Given the description of an element on the screen output the (x, y) to click on. 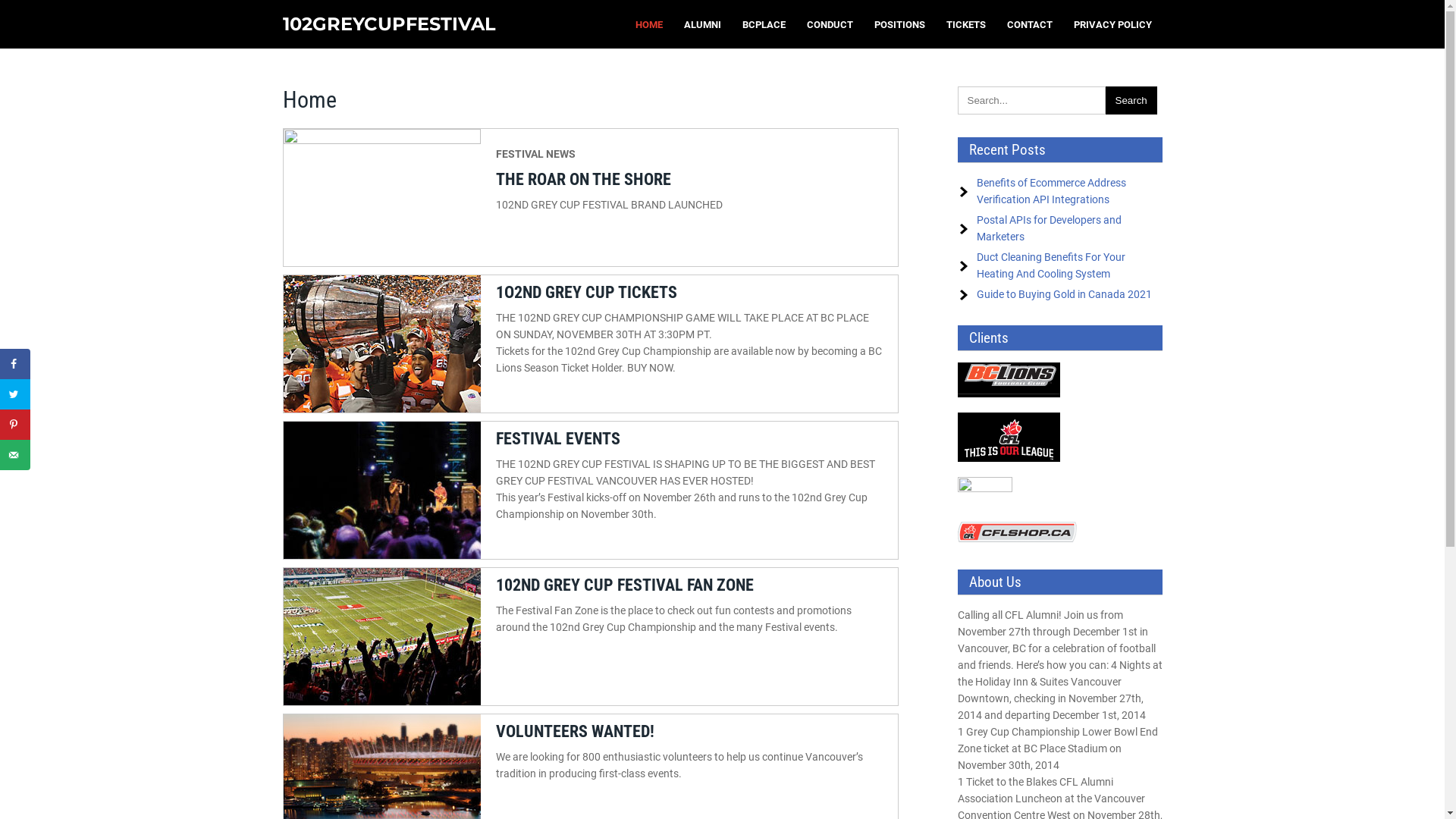
102GREYCUPFESTIVAL Element type: text (388, 23)
Duct Cleaning Benefits For Your Heating And Cooling System Element type: text (1050, 265)
POSITIONS Element type: text (898, 23)
Share on Facebook Element type: hover (15, 363)
Search Element type: text (1131, 100)
Guide to Buying Gold in Canada 2021 Element type: text (1063, 294)
BCPLACE Element type: text (763, 23)
Save to Pinterest Element type: hover (15, 424)
CONTACT Element type: text (1029, 23)
CONDUCT Element type: text (829, 23)
Postal APIs for Developers and Marketers Element type: text (1048, 227)
Share on Twitter Element type: hover (15, 394)
HOME Element type: text (648, 23)
Send over email Element type: hover (15, 454)
PRIVACY POLICY Element type: text (1112, 23)
Benefits of Ecommerce Address Verification API Integrations Element type: text (1051, 190)
ALUMNI Element type: text (702, 23)
TICKETS Element type: text (965, 23)
